Given the description of an element on the screen output the (x, y) to click on. 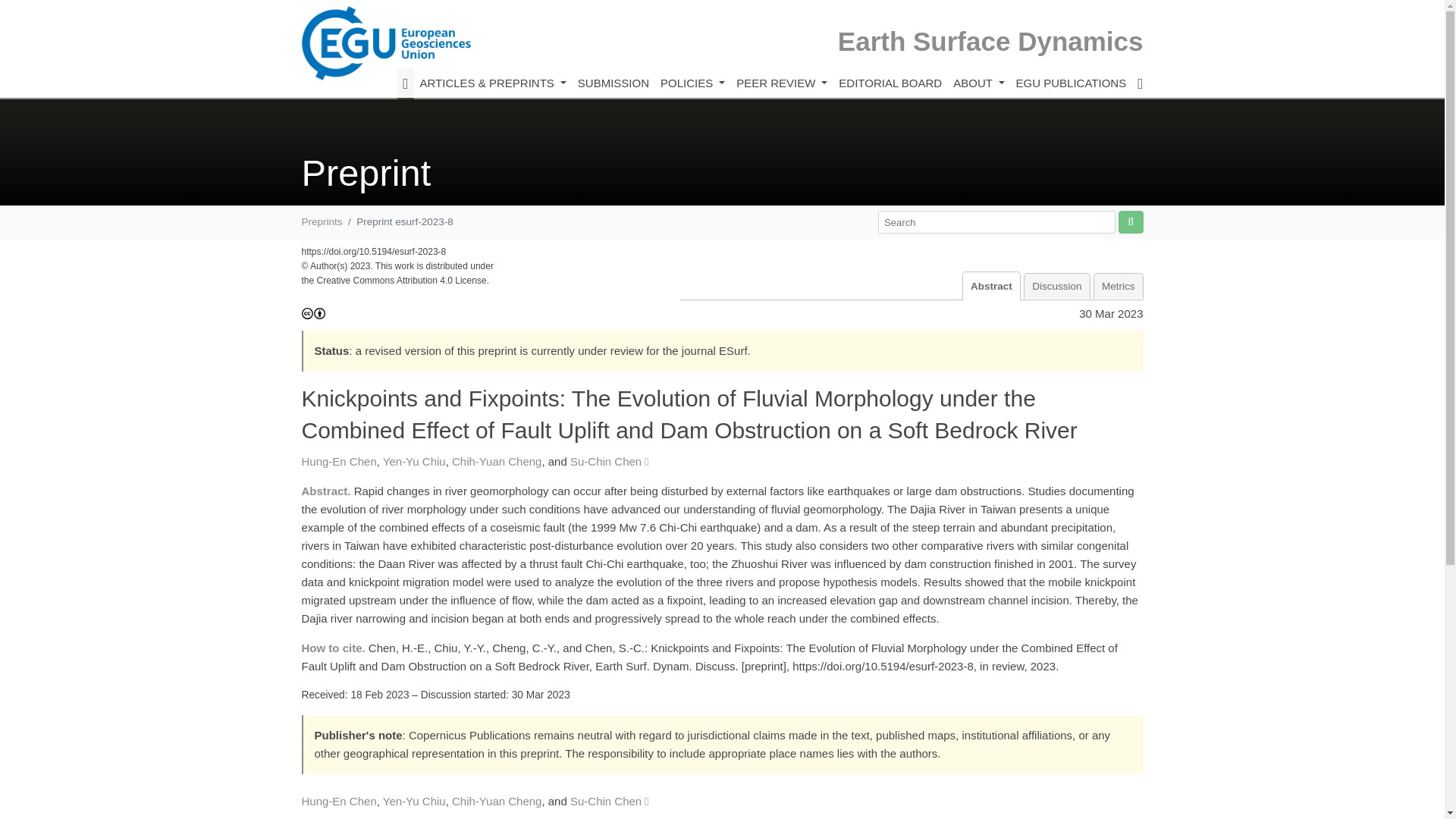
PEER REVIEW (781, 83)
SUBMISSION (612, 83)
Start site search (1130, 221)
POLICIES (691, 83)
Earth Surface Dynamics (990, 41)
